Given the description of an element on the screen output the (x, y) to click on. 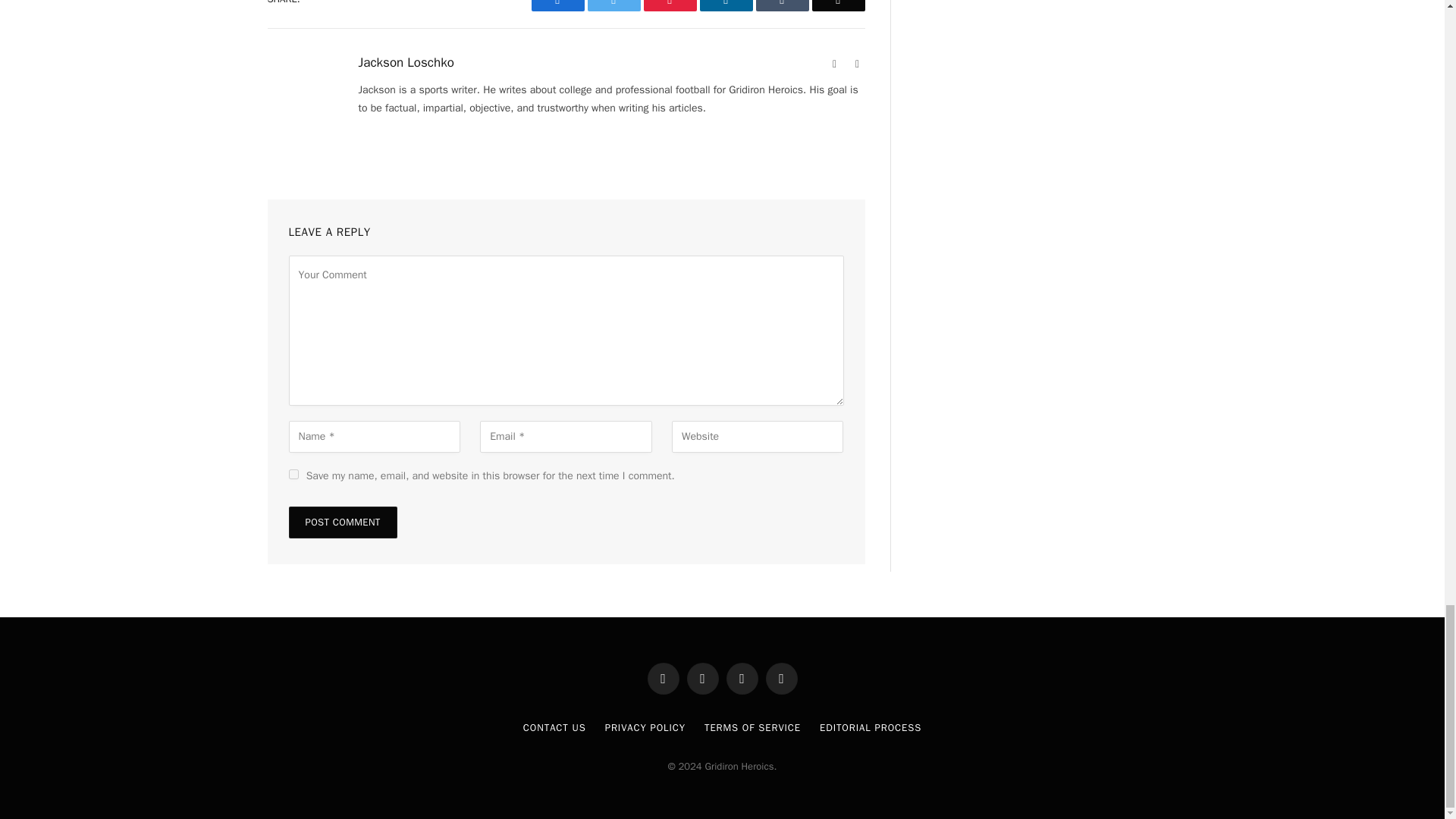
yes (293, 474)
Post Comment (342, 522)
